Given the description of an element on the screen output the (x, y) to click on. 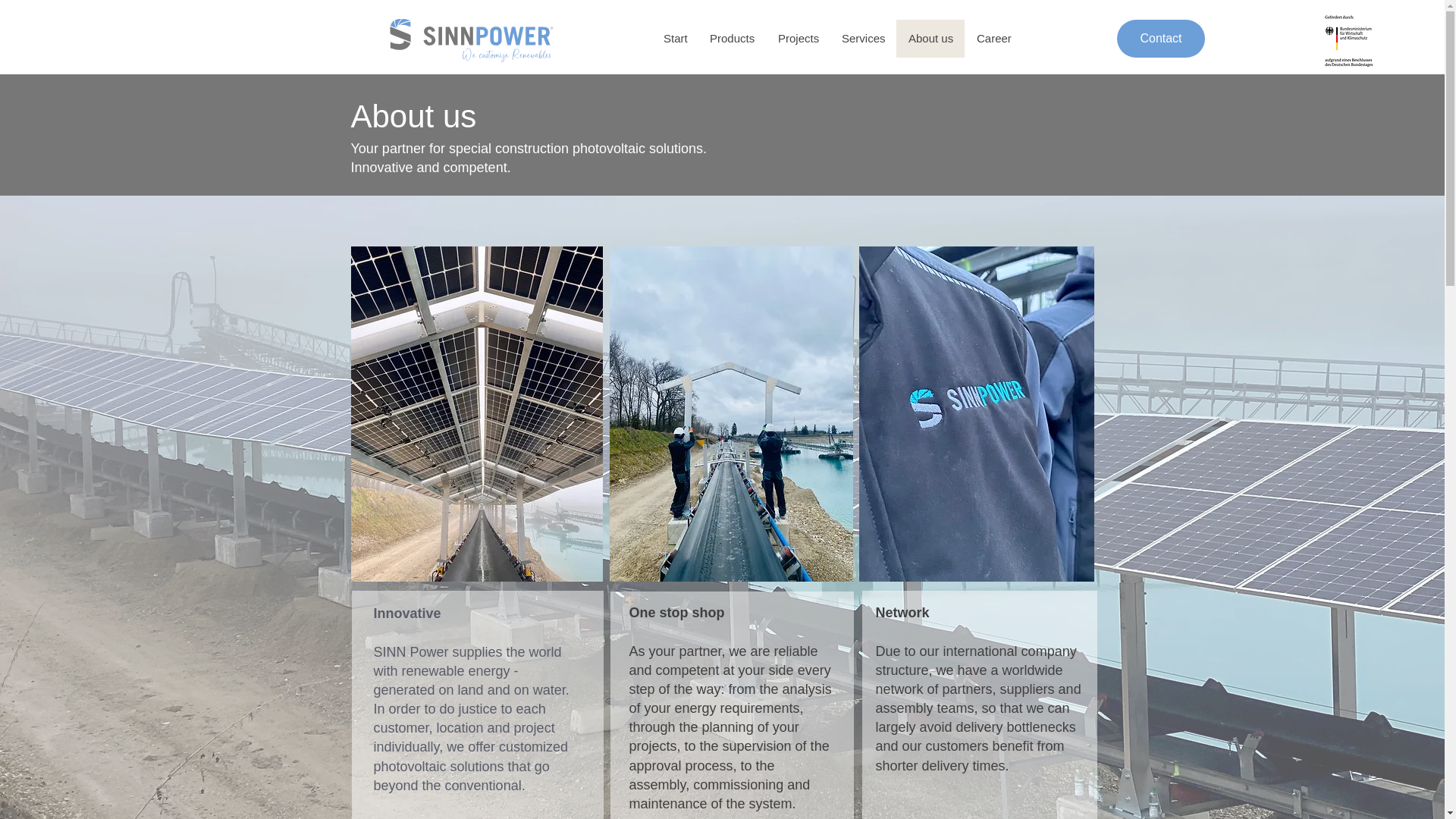
Contact (1160, 38)
Projects (797, 38)
Start (673, 38)
About us (929, 38)
Career (992, 38)
Products (731, 38)
Services (862, 38)
